Given the description of an element on the screen output the (x, y) to click on. 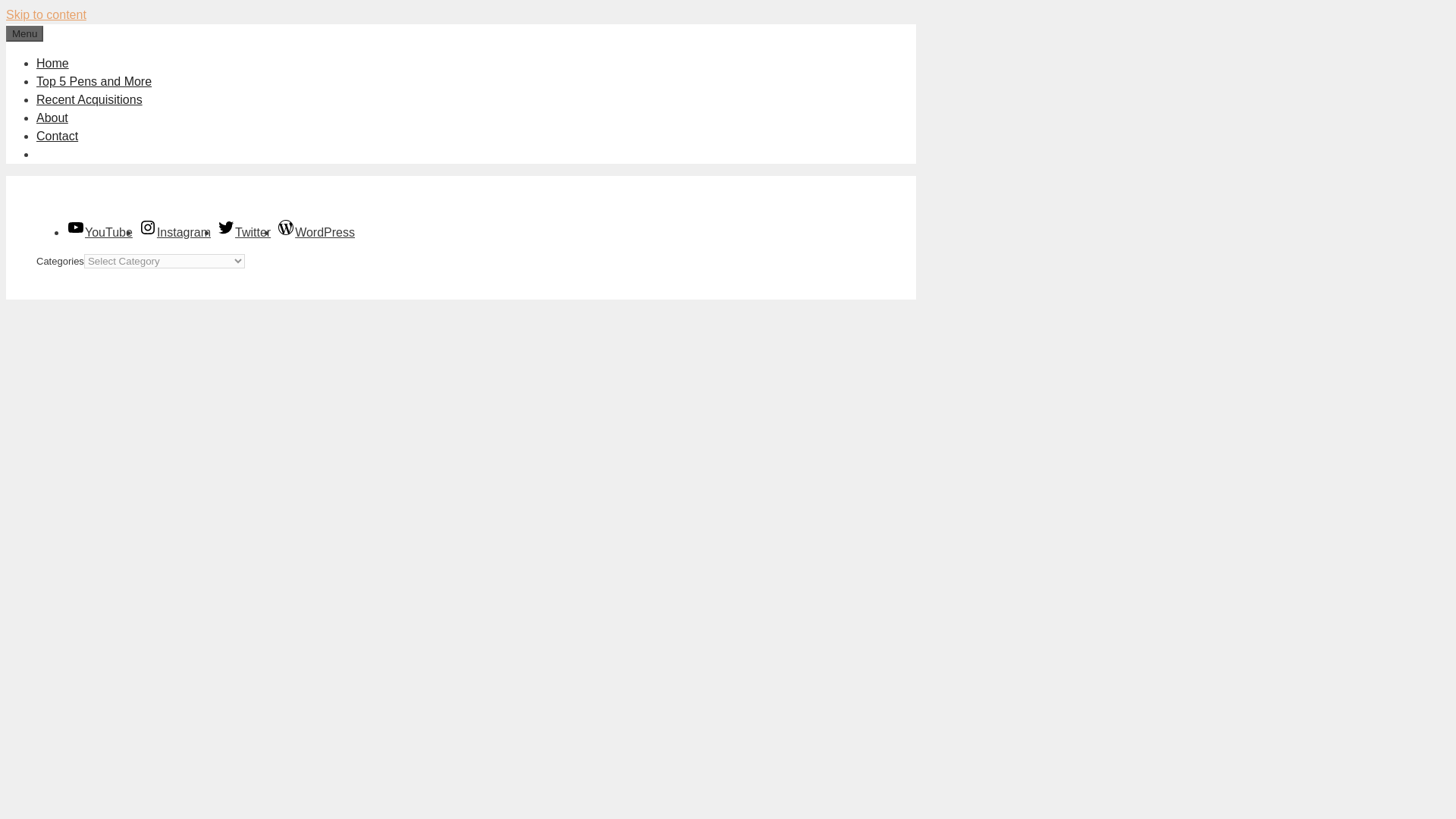
Twitter (243, 232)
About (52, 117)
Contact (57, 135)
Instagram (174, 232)
YouTube (99, 232)
Top 5 Pens and More (93, 81)
Recent Acquisitions (89, 99)
Skip to content (45, 14)
Menu (24, 33)
Skip to content (45, 14)
